Given the description of an element on the screen output the (x, y) to click on. 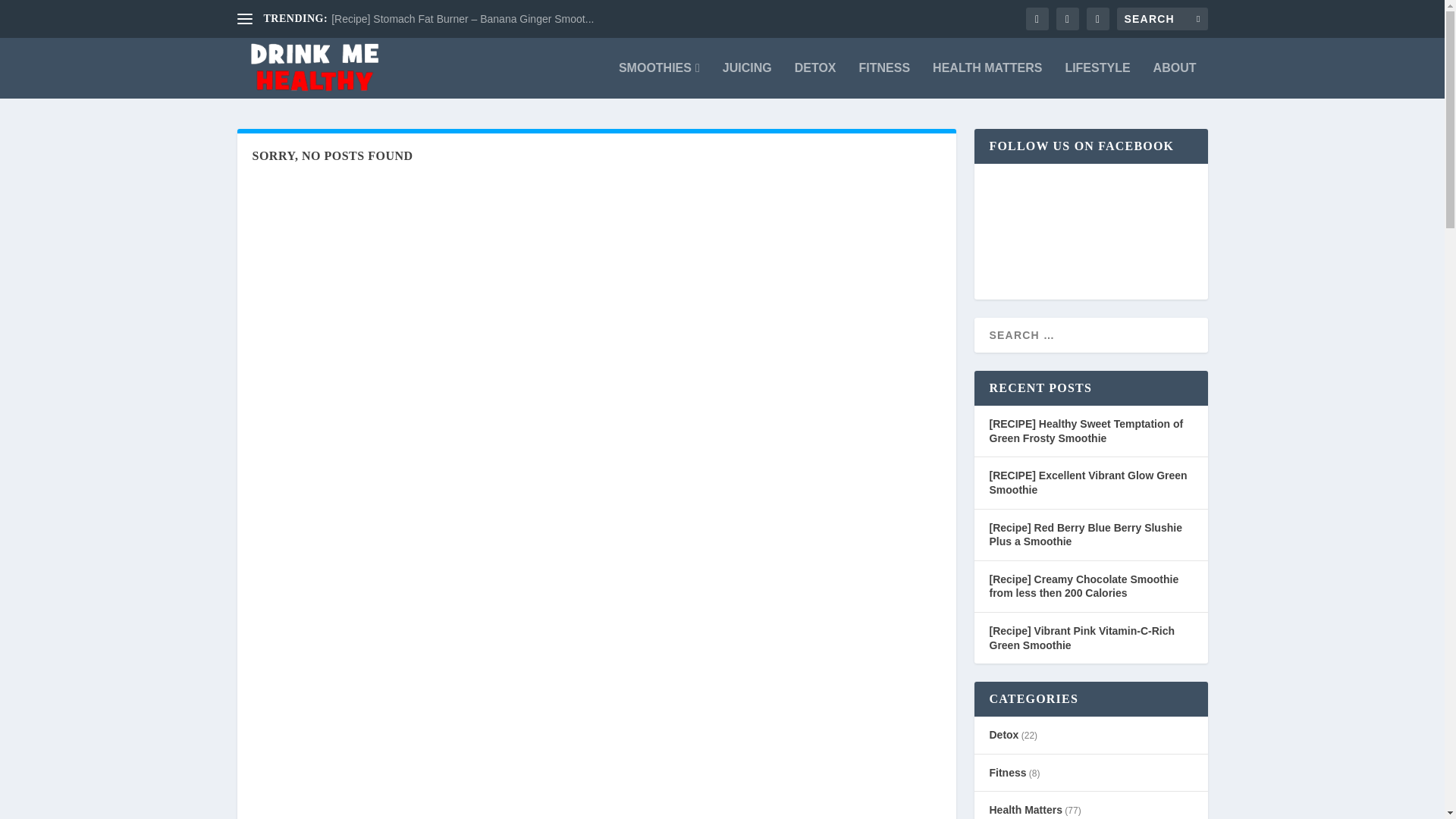
HEALTH MATTERS (987, 80)
Search for: (1161, 18)
JUICING (746, 80)
FITNESS (885, 80)
LIFESTYLE (1096, 80)
DETOX (814, 80)
ABOUT (1174, 80)
Search (31, 13)
SMOOTHIES (659, 80)
